Given the description of an element on the screen output the (x, y) to click on. 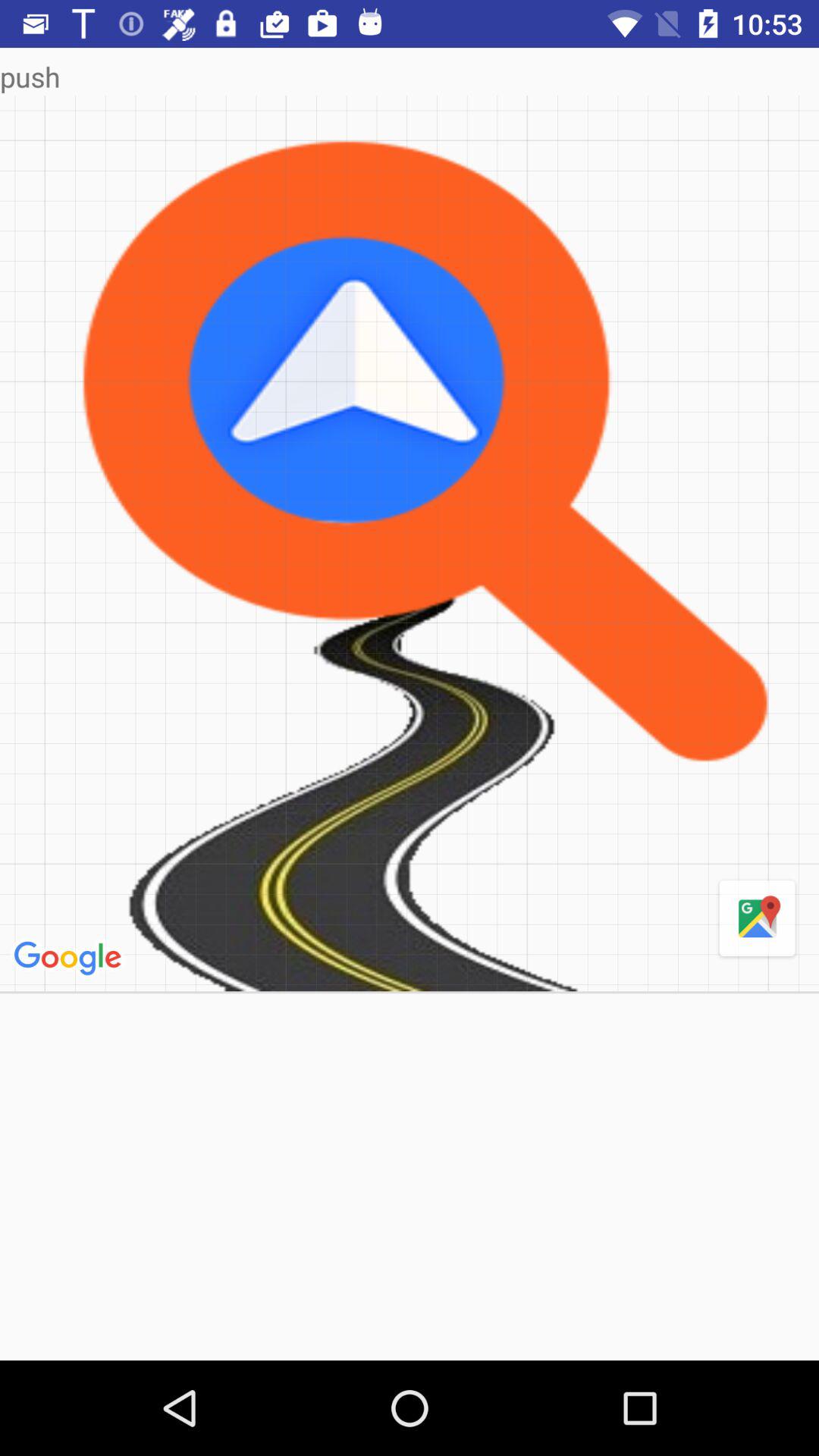
tap item on the left (69, 959)
